Given the description of an element on the screen output the (x, y) to click on. 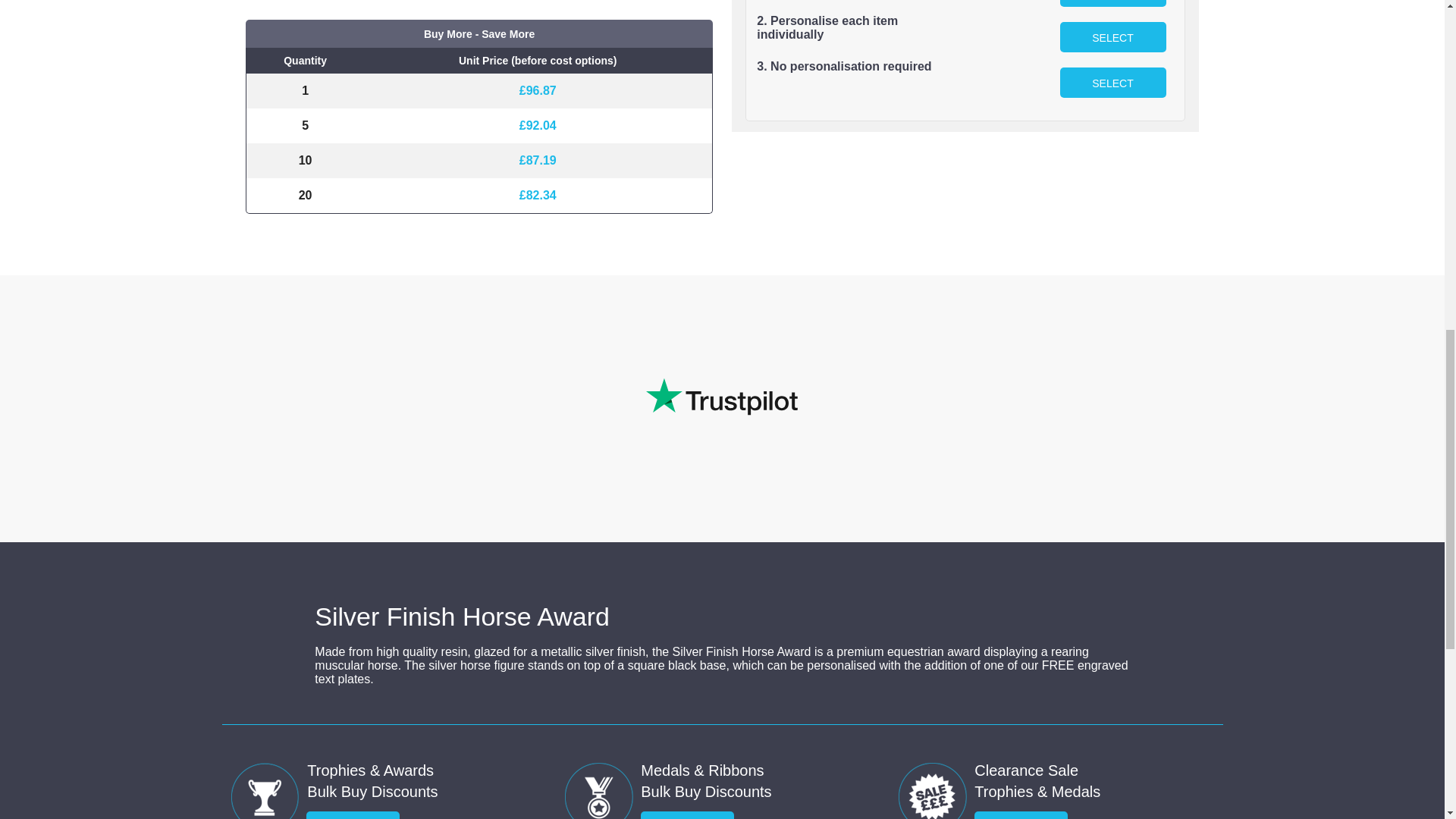
Select (1112, 82)
Select (1112, 3)
Select (1112, 37)
